Given the description of an element on the screen output the (x, y) to click on. 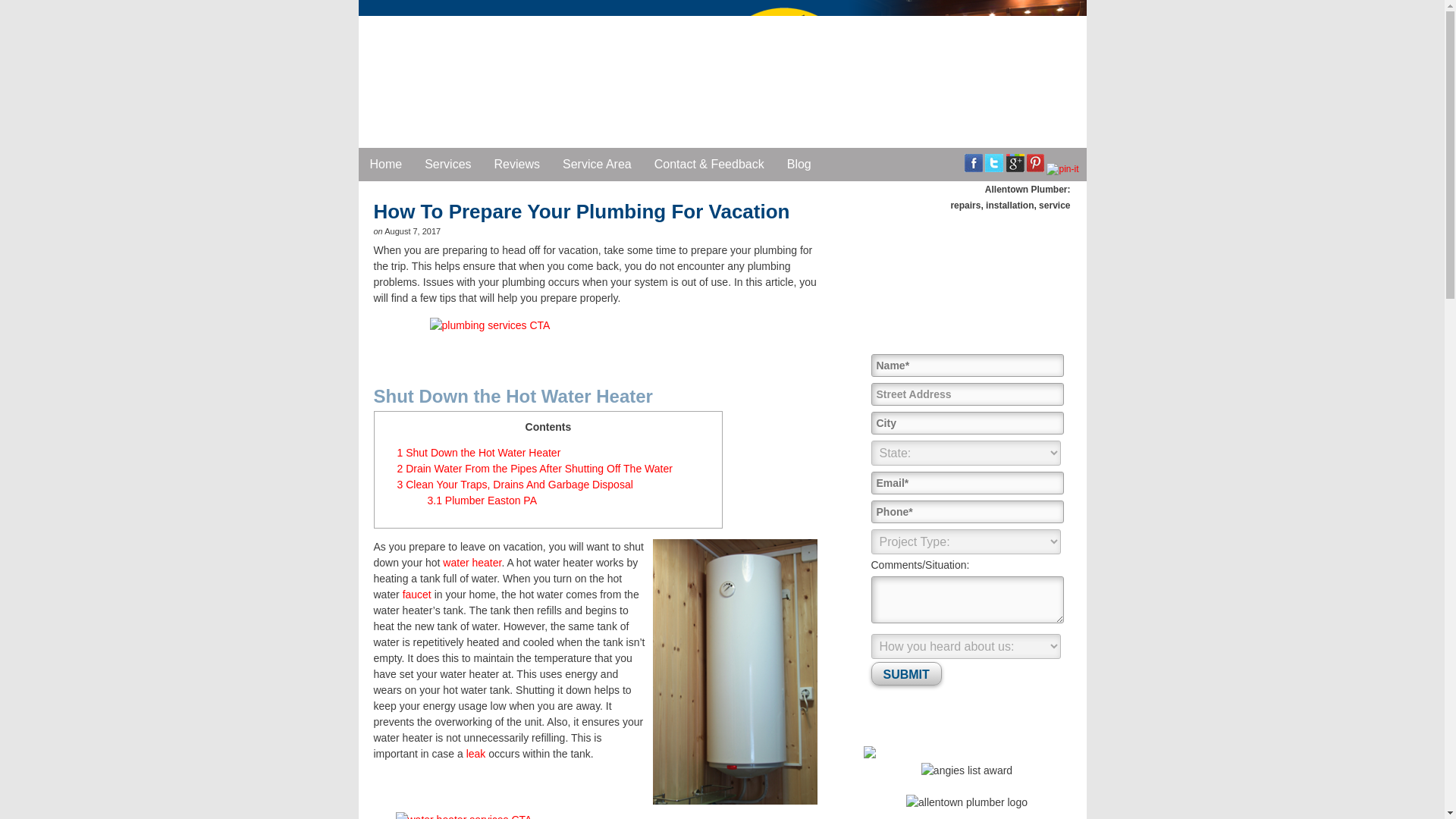
3 Clean Your Traps, Drains And Garbage Disposal (515, 484)
2 Drain Water From the Pipes After Shutting Off The Water (534, 468)
pinterest (1034, 162)
Services (447, 164)
Street Address (966, 394)
Home (385, 164)
faucet (416, 594)
2017-08-07T03:55:33-0500 (412, 230)
SUBMIT (905, 673)
SUBMIT (905, 673)
